Given the description of an element on the screen output the (x, y) to click on. 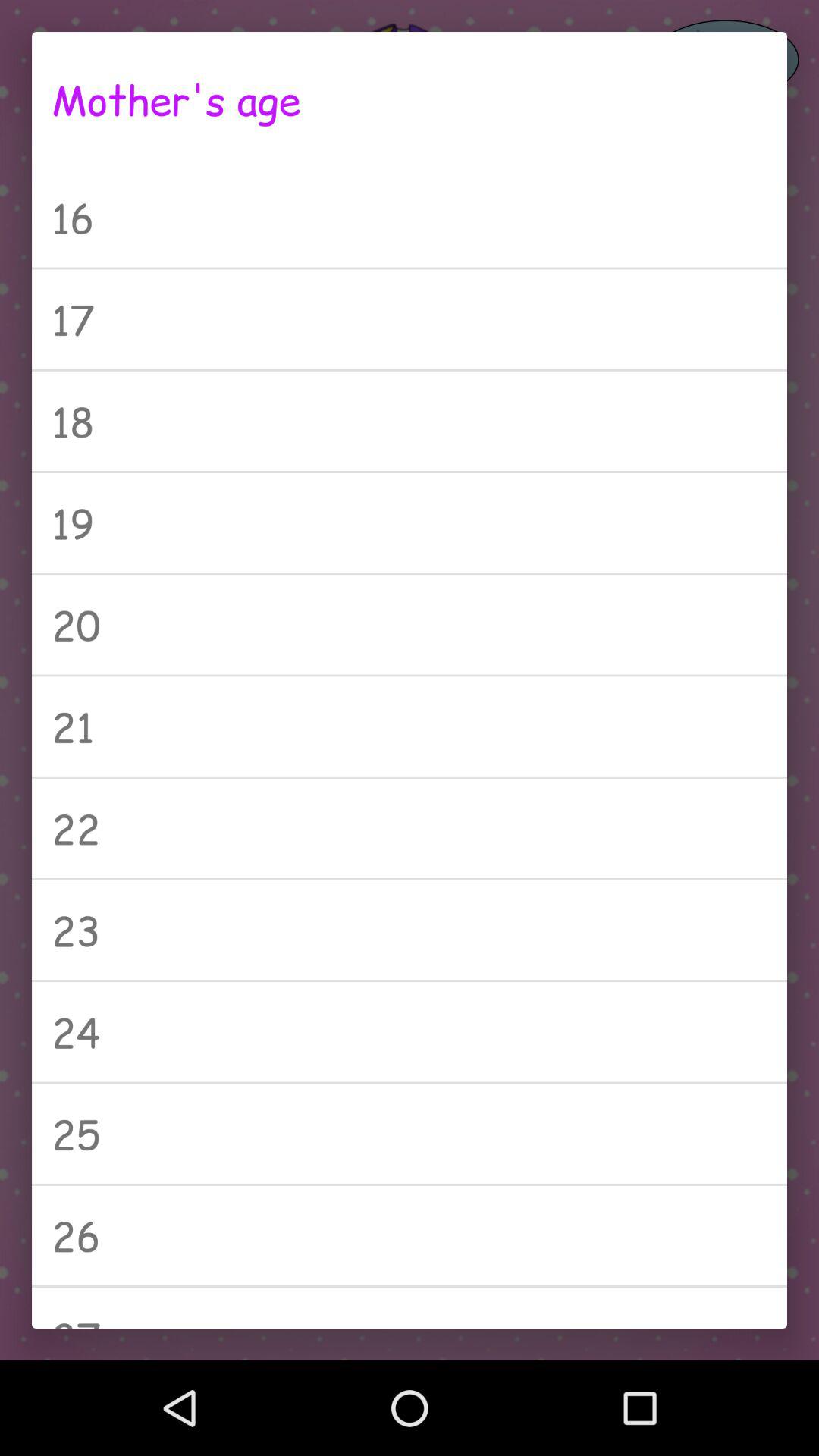
click the 18 icon (409, 420)
